Given the description of an element on the screen output the (x, y) to click on. 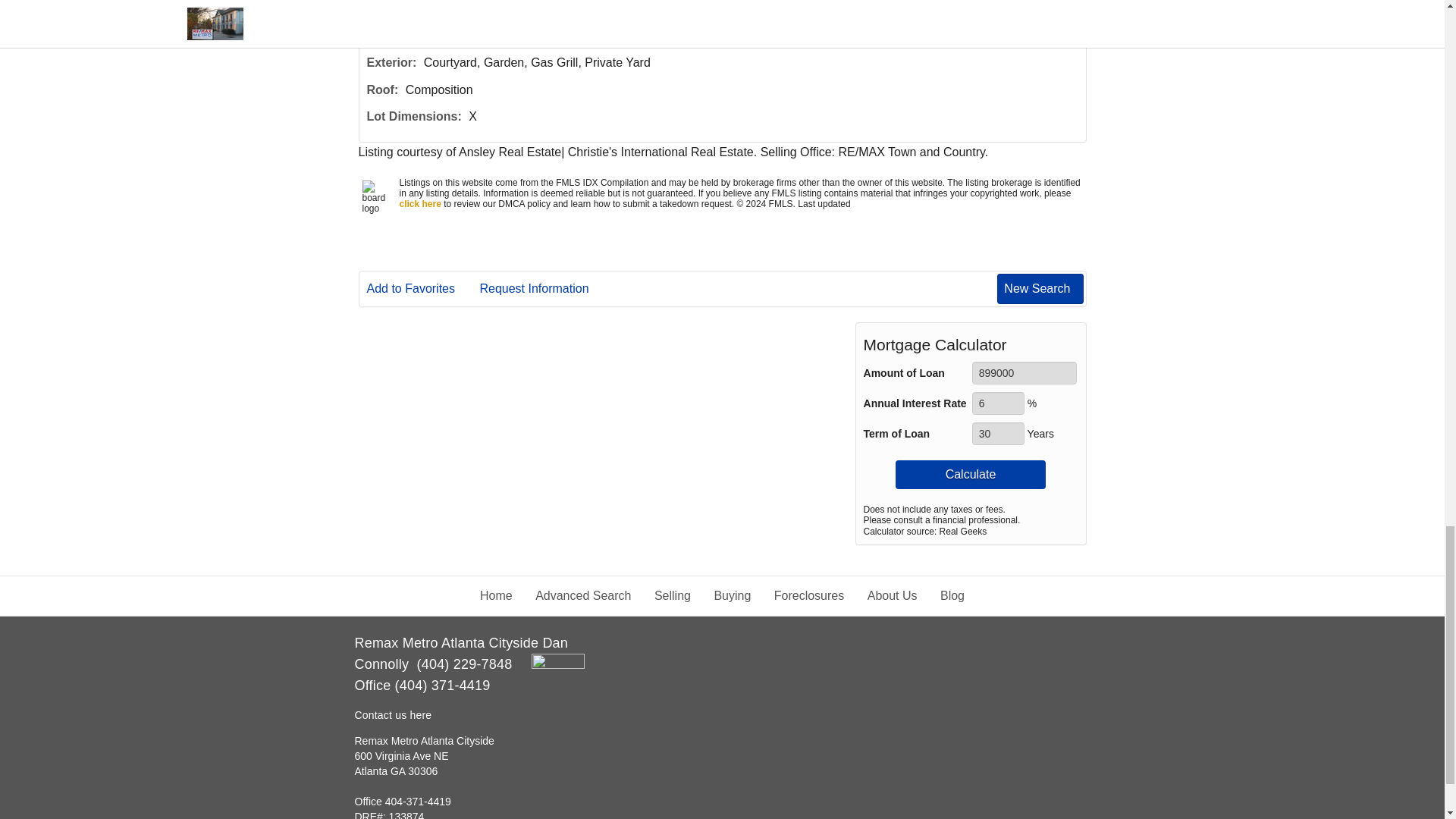
6 (998, 403)
899000 (1024, 372)
30 (998, 433)
